Given the description of an element on the screen output the (x, y) to click on. 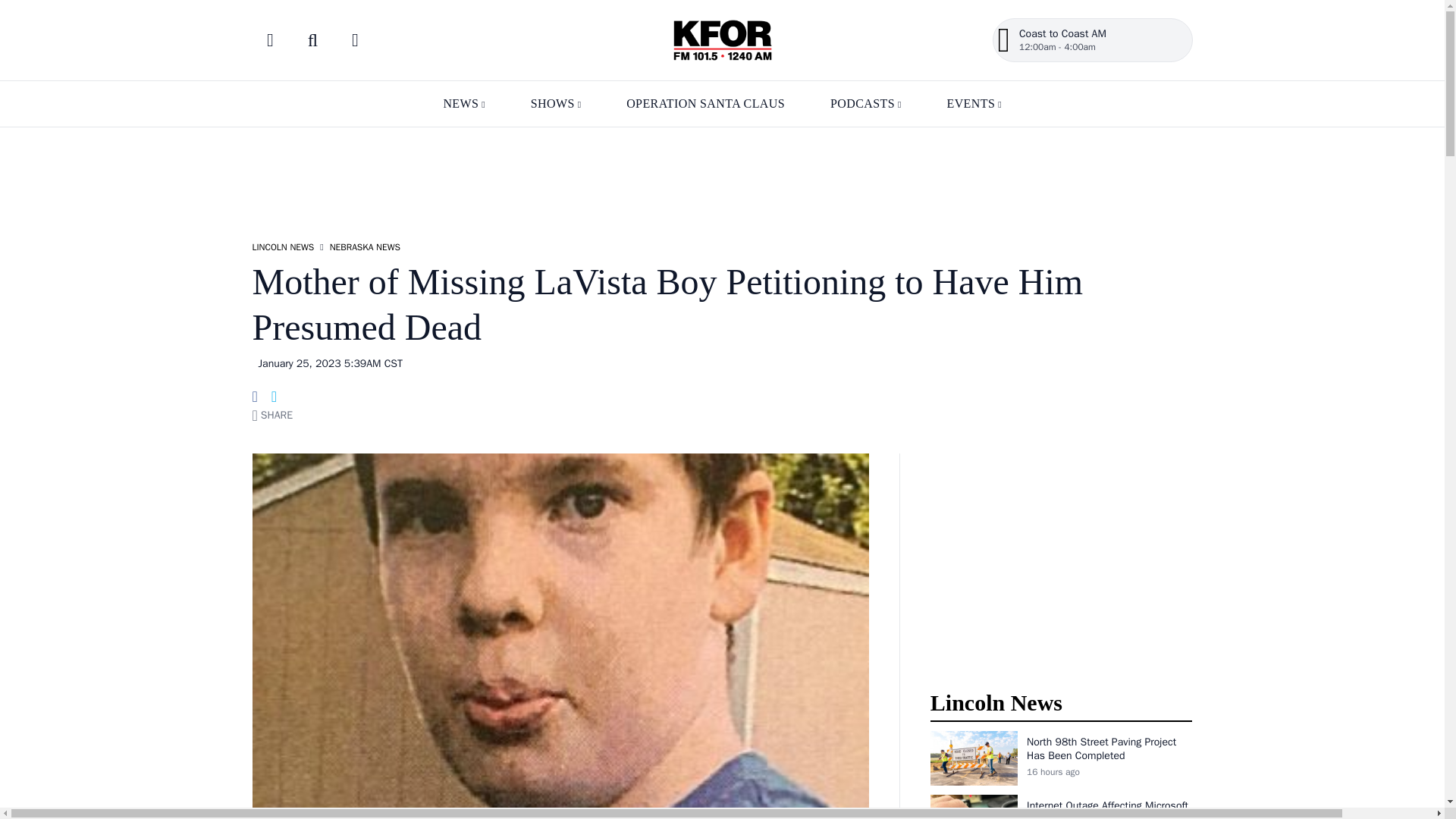
3rd party ad content (1060, 563)
3rd party ad content (721, 176)
